Given the description of an element on the screen output the (x, y) to click on. 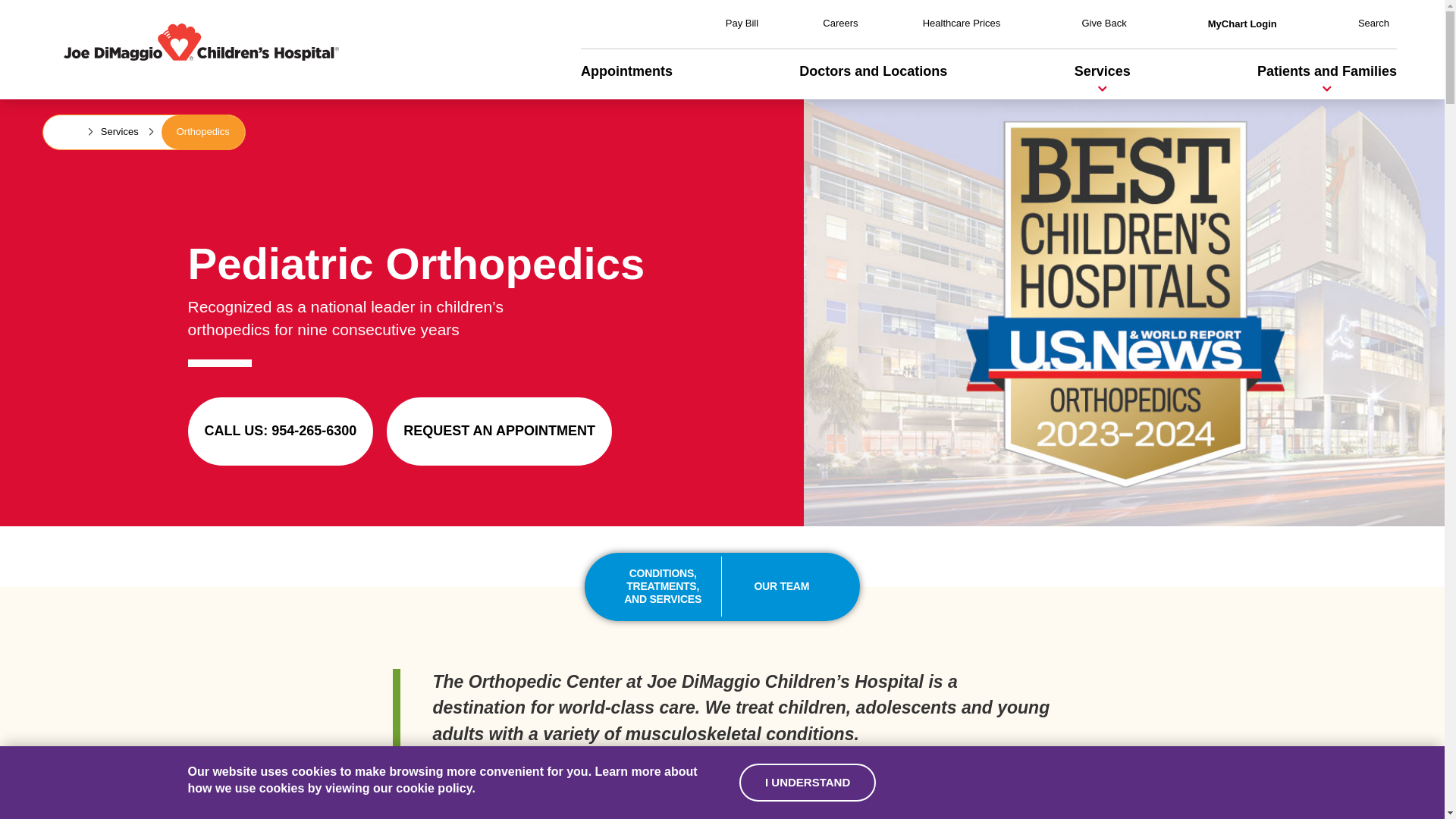
MyChart Login (1242, 23)
Pay Bill (741, 23)
Careers (839, 23)
Appointments (626, 71)
Healthcare Prices (962, 23)
Give Back (1103, 23)
Doctors and Locations (873, 71)
Search (1373, 23)
Patients and Families (1326, 71)
Services (1102, 71)
